Given the description of an element on the screen output the (x, y) to click on. 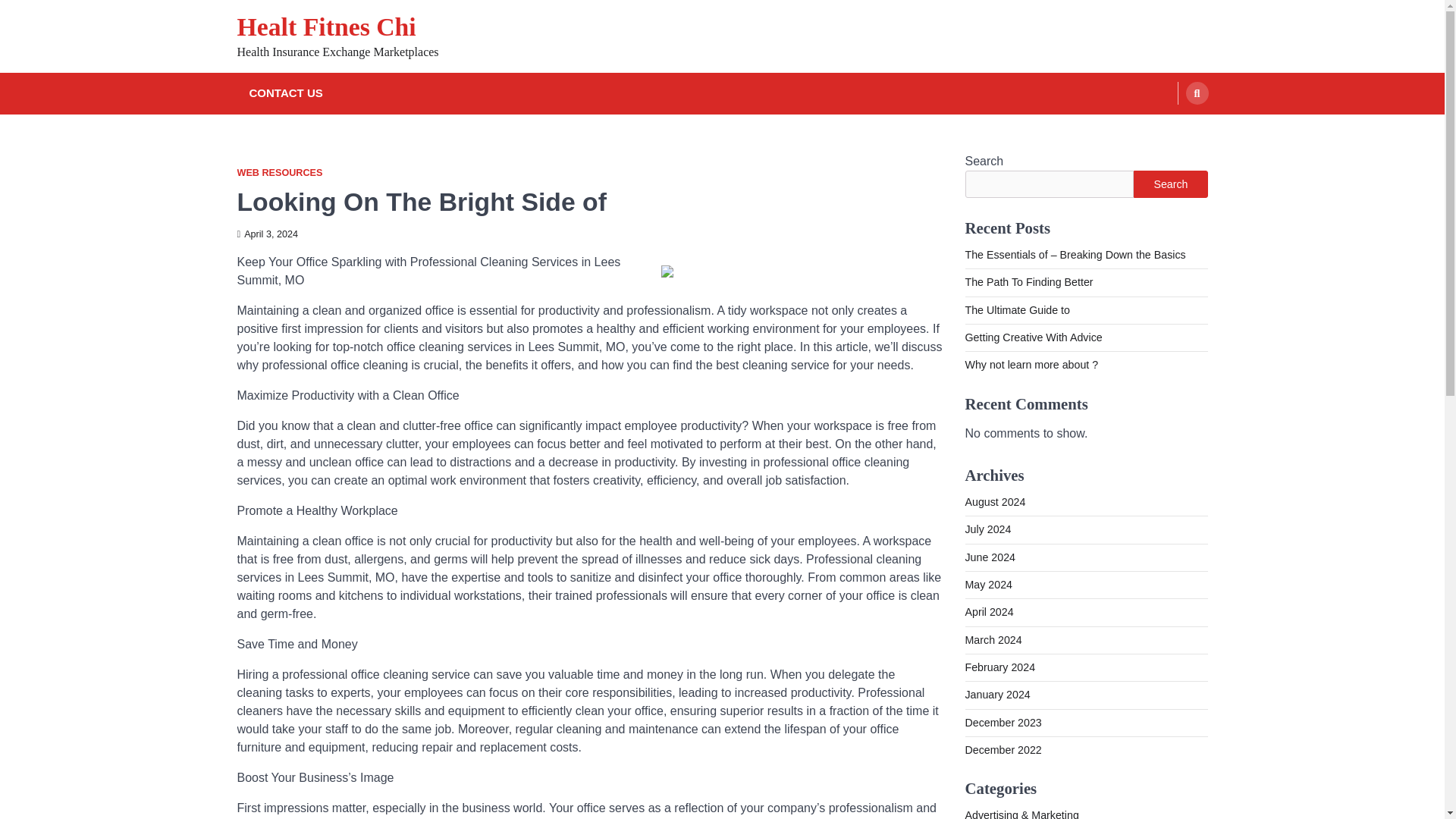
The Path To Finding Better (1028, 282)
December 2022 (1002, 749)
August 2024 (994, 501)
Search (1168, 128)
Search (1197, 92)
March 2024 (992, 639)
January 2024 (996, 694)
Healt Fitnes Chi (324, 26)
December 2023 (1002, 722)
The Ultimate Guide to (1015, 309)
February 2024 (999, 666)
Getting Creative With Advice (1032, 337)
June 2024 (988, 557)
May 2024 (987, 584)
April 2024 (988, 612)
